Given the description of an element on the screen output the (x, y) to click on. 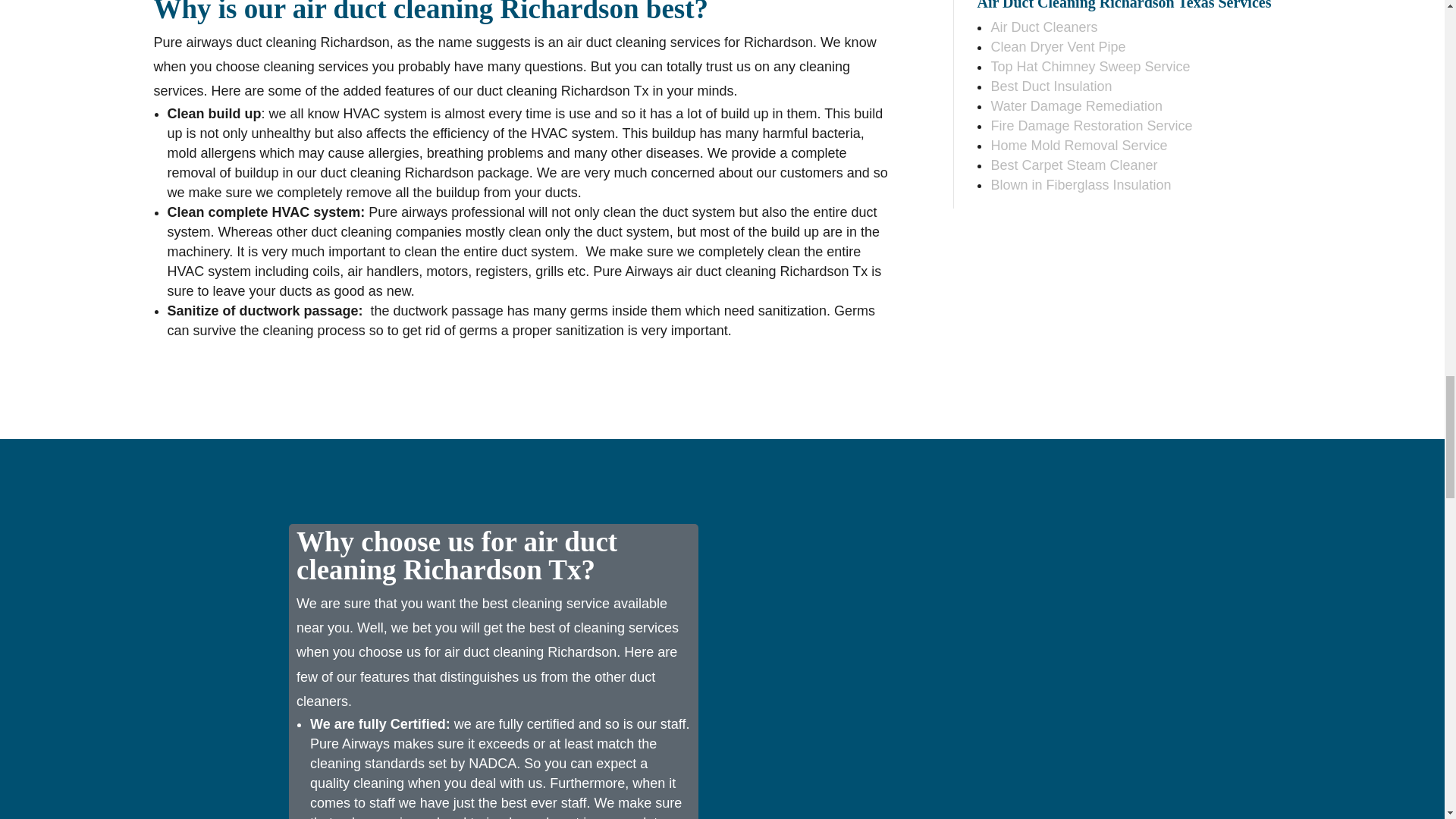
Water Damage Remediation (1075, 105)
Home Mold Removal Service (1078, 145)
Best Carpet Steam Cleaner (1073, 165)
Top Hat Chimney Sweep Service (1089, 66)
Air Duct Cleaners (1043, 27)
Clean Dryer Vent Pipe (1057, 46)
Fire Damage Restoration Service (1091, 125)
Blown in Fiberglass Insulation (1080, 184)
Best Duct Insulation (1051, 86)
